Given the description of an element on the screen output the (x, y) to click on. 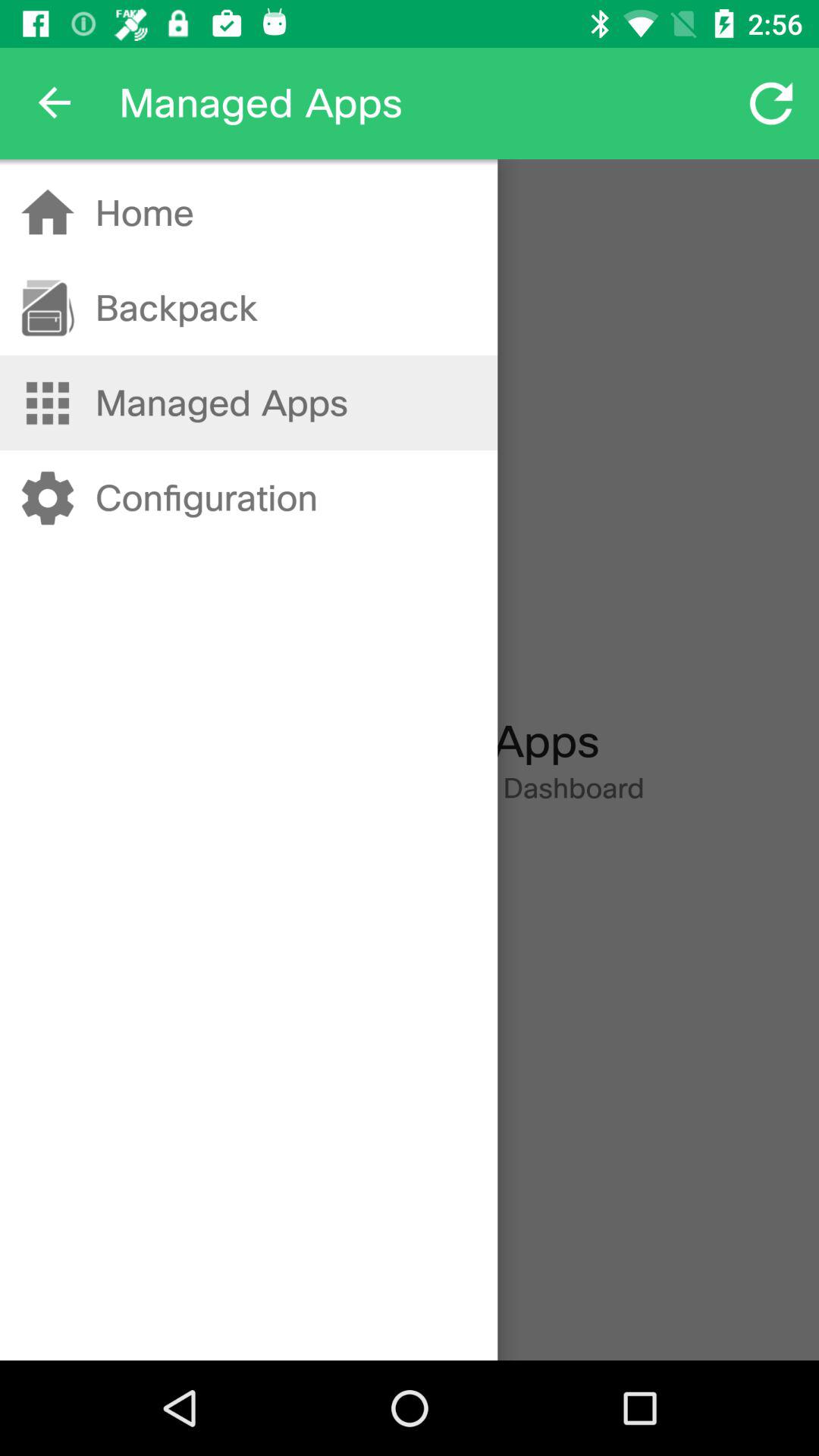
turn off icon next to the managed apps icon (55, 103)
